Given the description of an element on the screen output the (x, y) to click on. 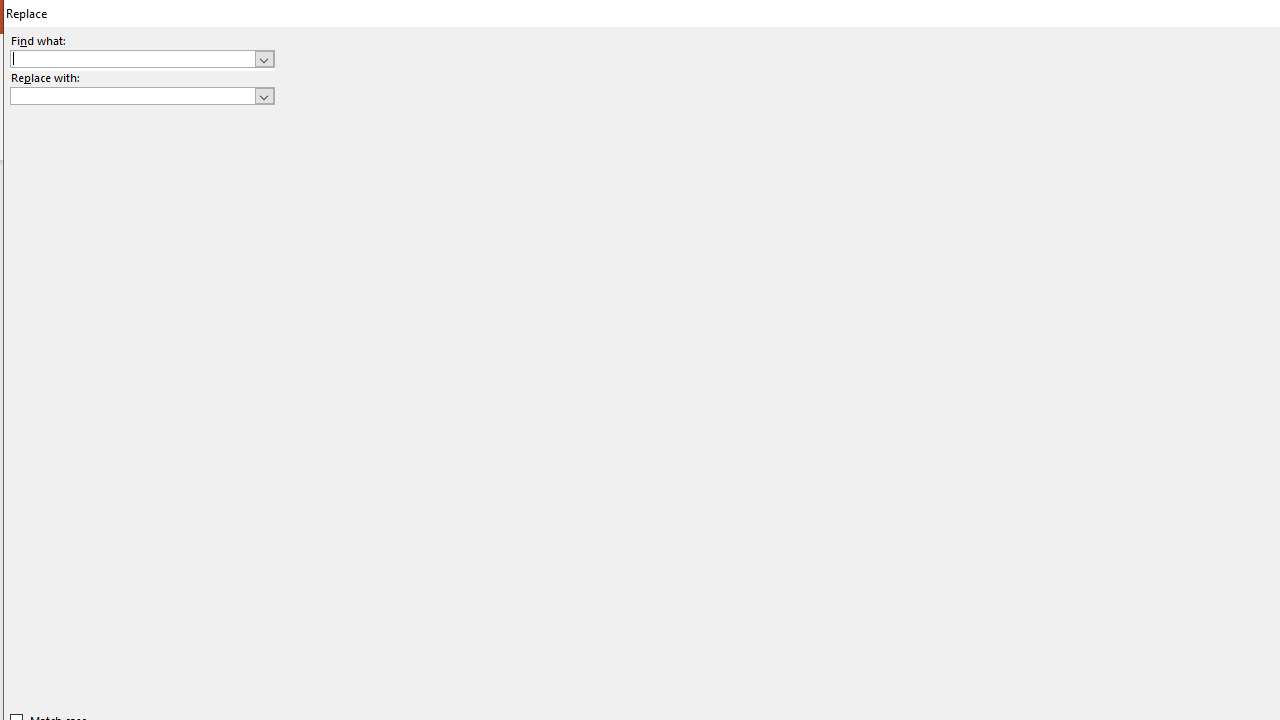
Replace with (132, 95)
Find what (142, 58)
Find what (132, 58)
Replace with (142, 96)
